Given the description of an element on the screen output the (x, y) to click on. 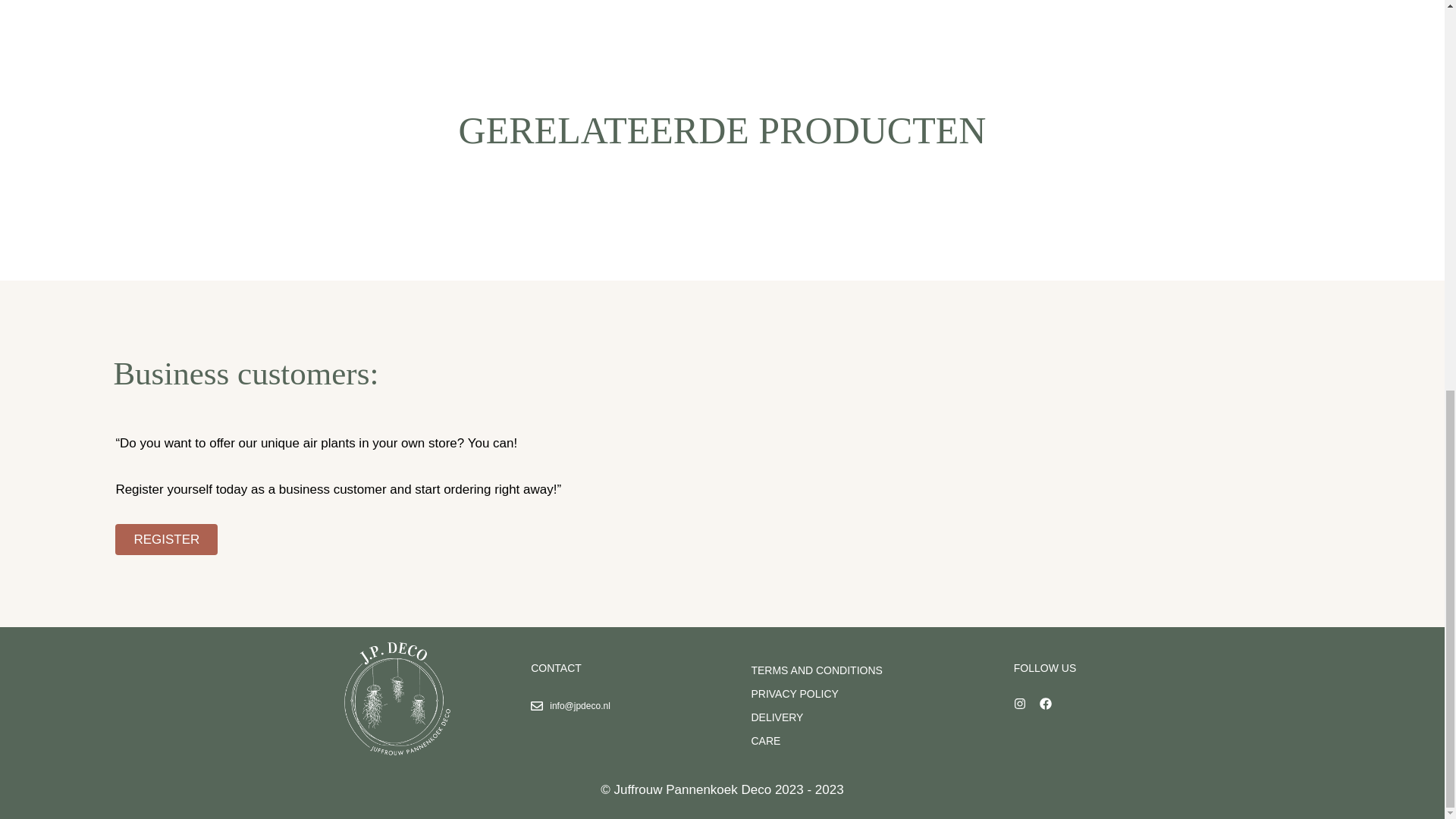
REGISTER (165, 539)
CARE (816, 741)
DELIVERY (816, 718)
TERMS AND CONDITIONS (816, 670)
PRIVACY POLICY (816, 694)
